Given the description of an element on the screen output the (x, y) to click on. 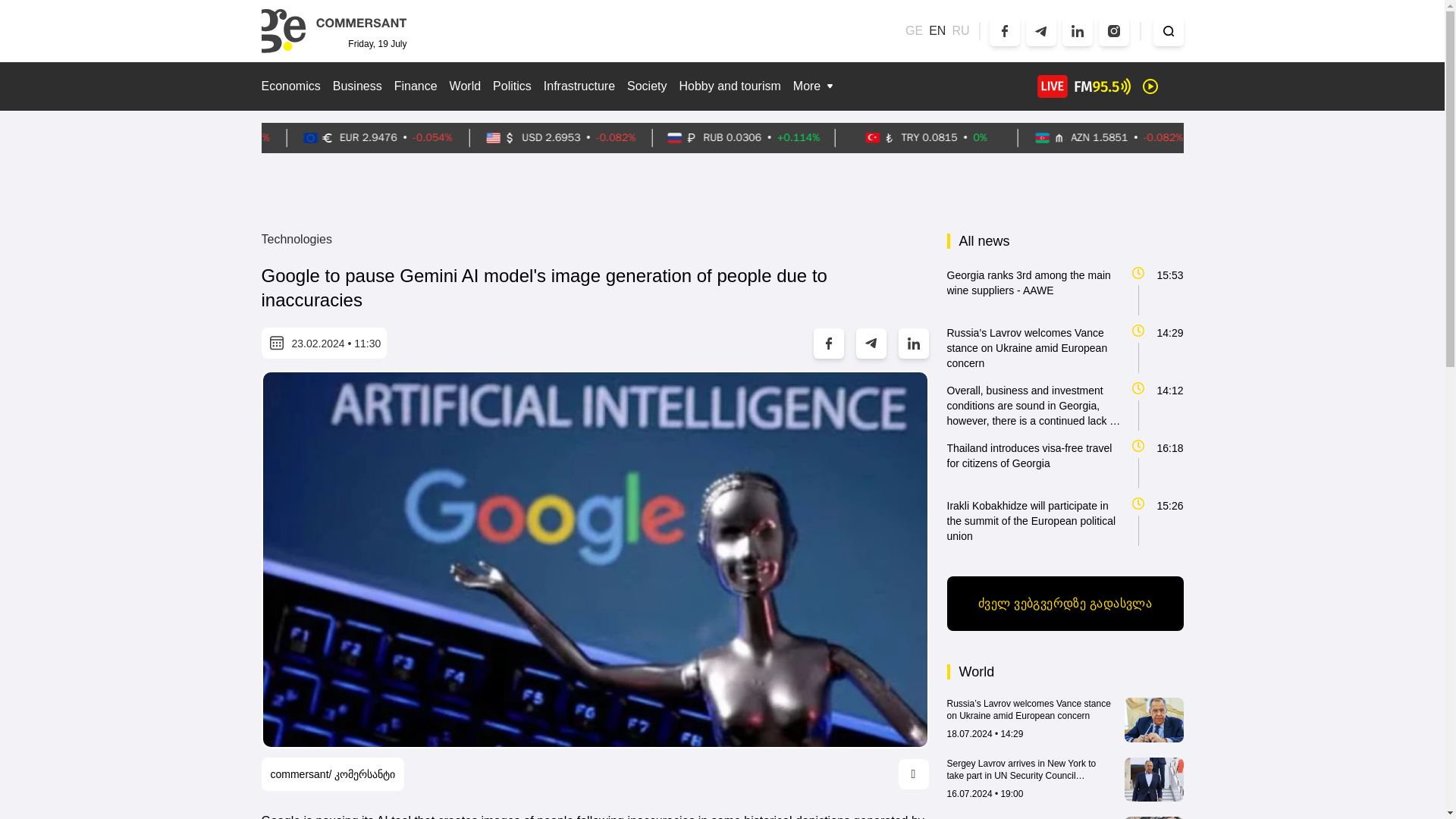
RU (960, 31)
World (465, 85)
Economics (290, 85)
Society (646, 85)
Politics (512, 85)
Business (357, 85)
Hobby and tourism (729, 85)
GE (914, 31)
EN (936, 31)
Technologies (295, 239)
Finance (416, 85)
Infrastructure (578, 85)
Friday, 19 July (333, 30)
